Given the description of an element on the screen output the (x, y) to click on. 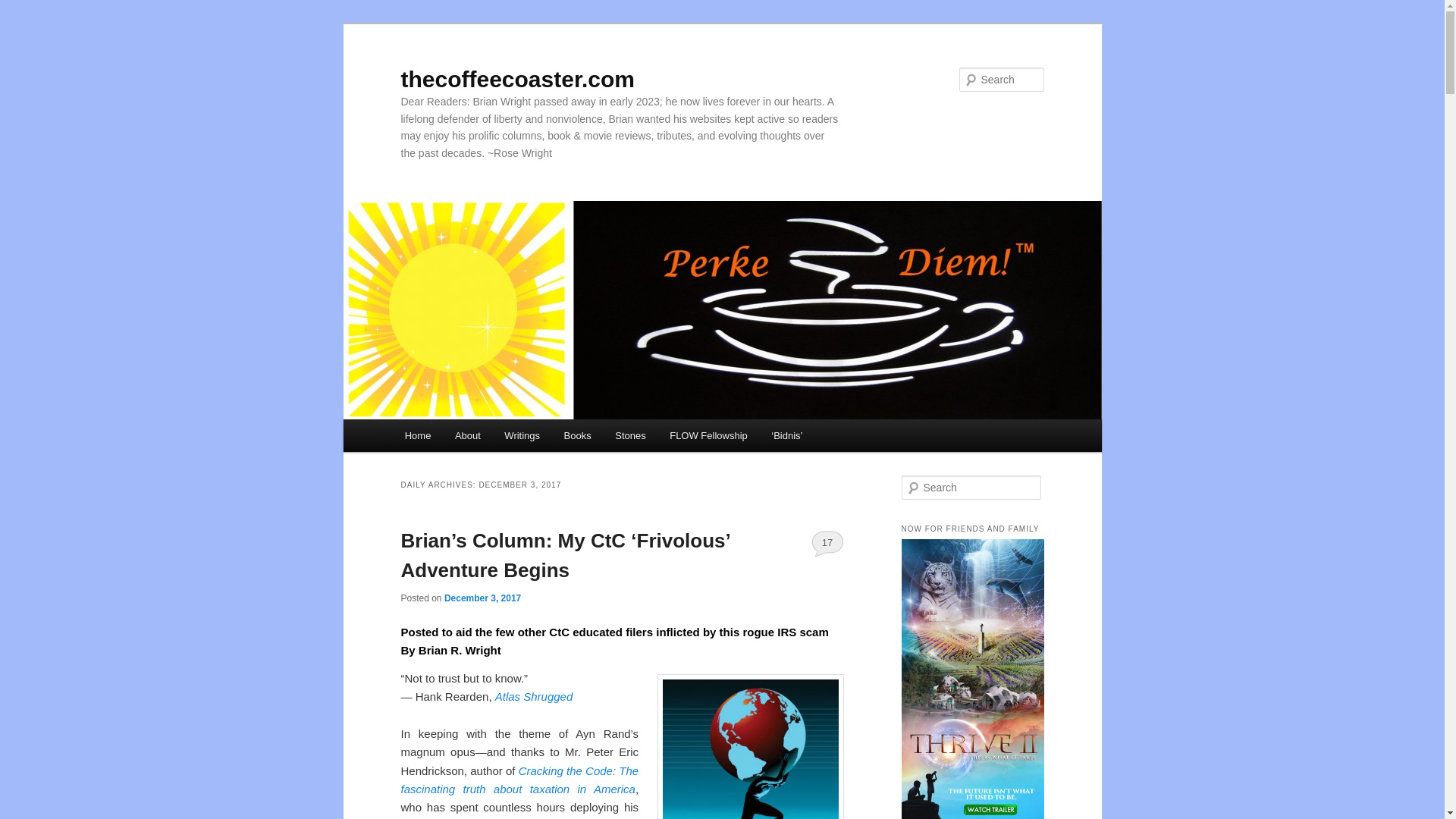
Search (24, 8)
Stones (630, 435)
23:46 (482, 597)
About (467, 435)
Atlas Shrugged (534, 696)
Home (417, 435)
FLOW Fellowship (708, 435)
17 (827, 542)
thecoffeecoaster.com (516, 78)
Writings (522, 435)
Books (577, 435)
December 3, 2017 (482, 597)
